Given the description of an element on the screen output the (x, y) to click on. 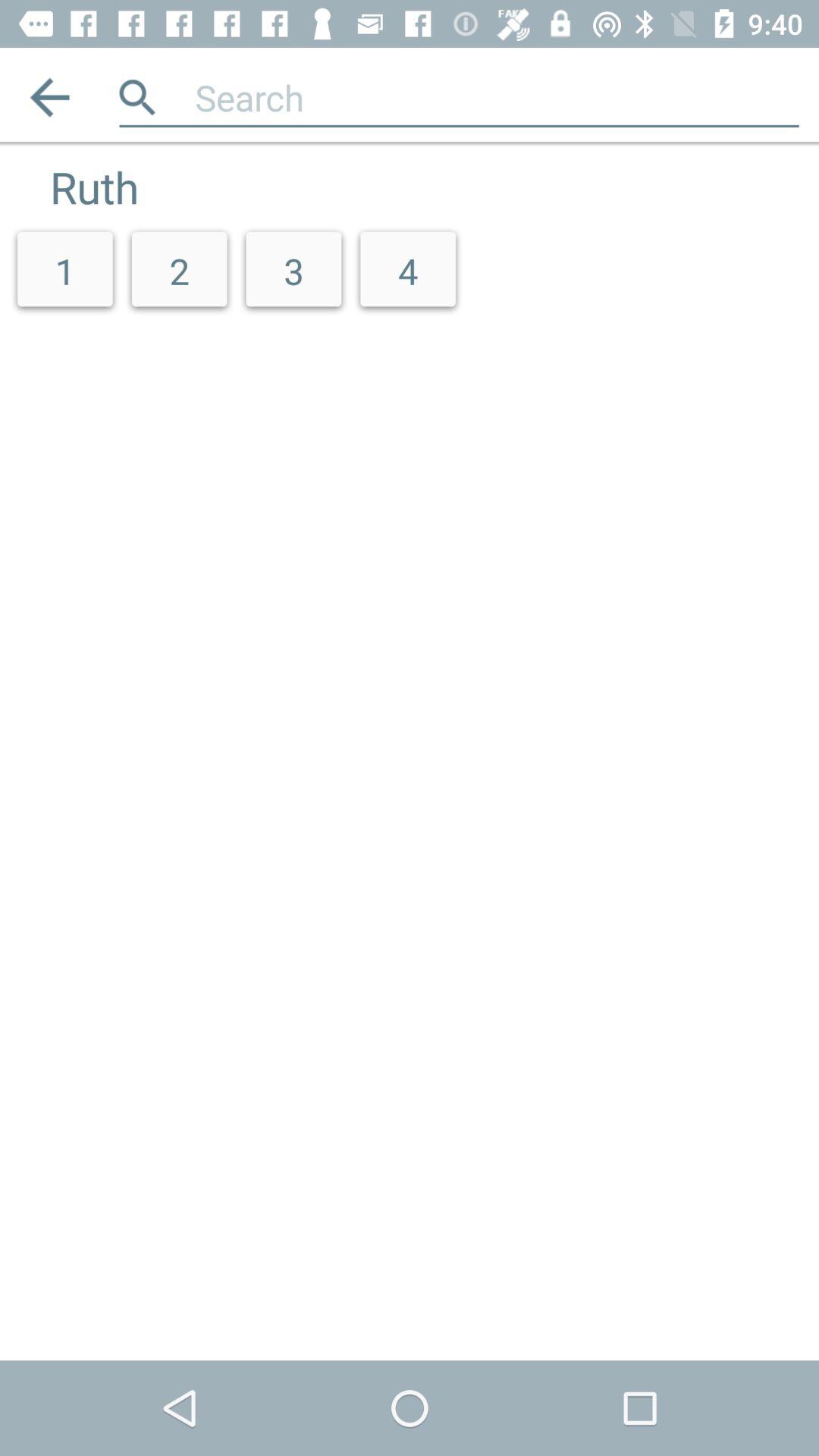
turn off item above the ruth app (49, 97)
